Given the description of an element on the screen output the (x, y) to click on. 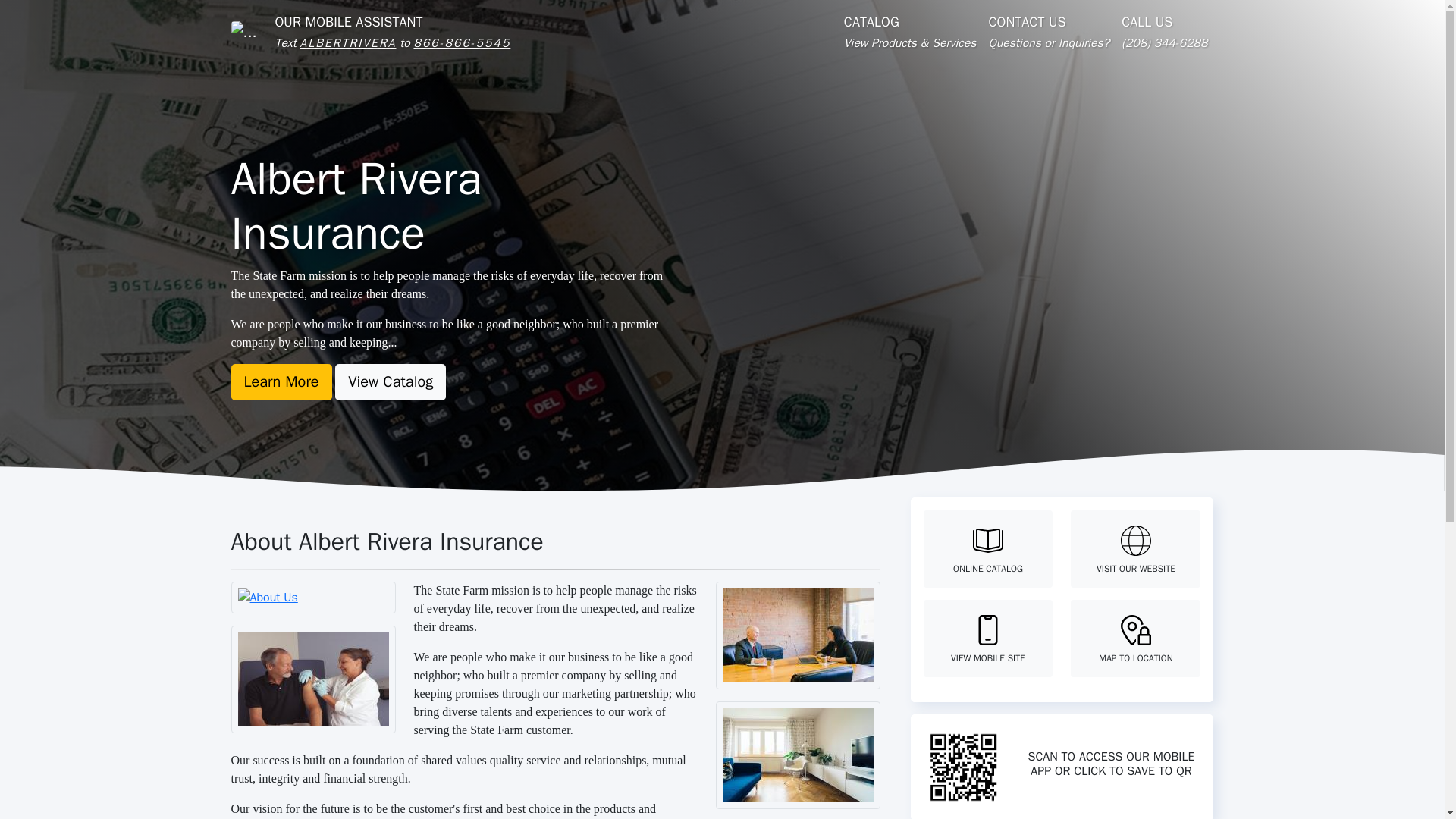
Learn More (1048, 31)
View Catalog (280, 381)
